Given the description of an element on the screen output the (x, y) to click on. 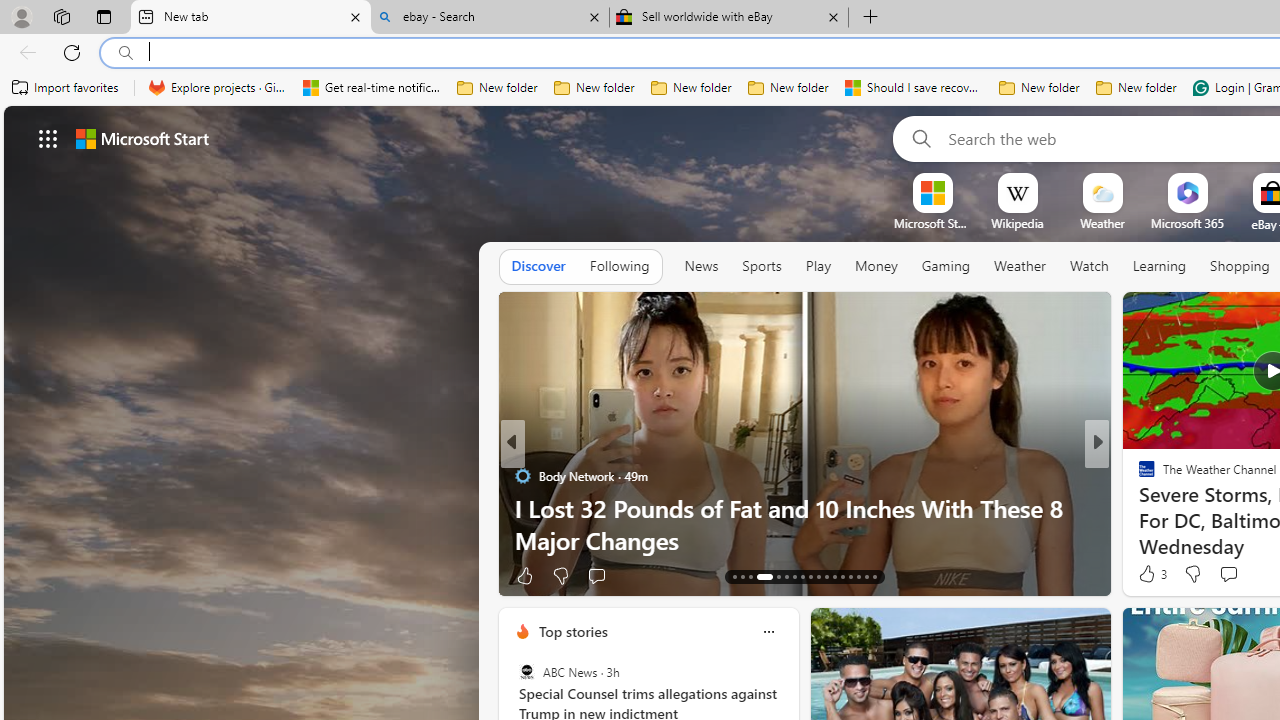
AutomationID: tab-22 (818, 576)
Forge of Empires (1175, 507)
News (701, 265)
Microsoft start (142, 138)
Gaming (945, 267)
New folder (1136, 88)
Play (817, 265)
View comments 1 Comment (1241, 574)
AutomationID: tab-27 (857, 576)
Class: icon-img (768, 632)
99 Like (1149, 574)
